Given the description of an element on the screen output the (x, y) to click on. 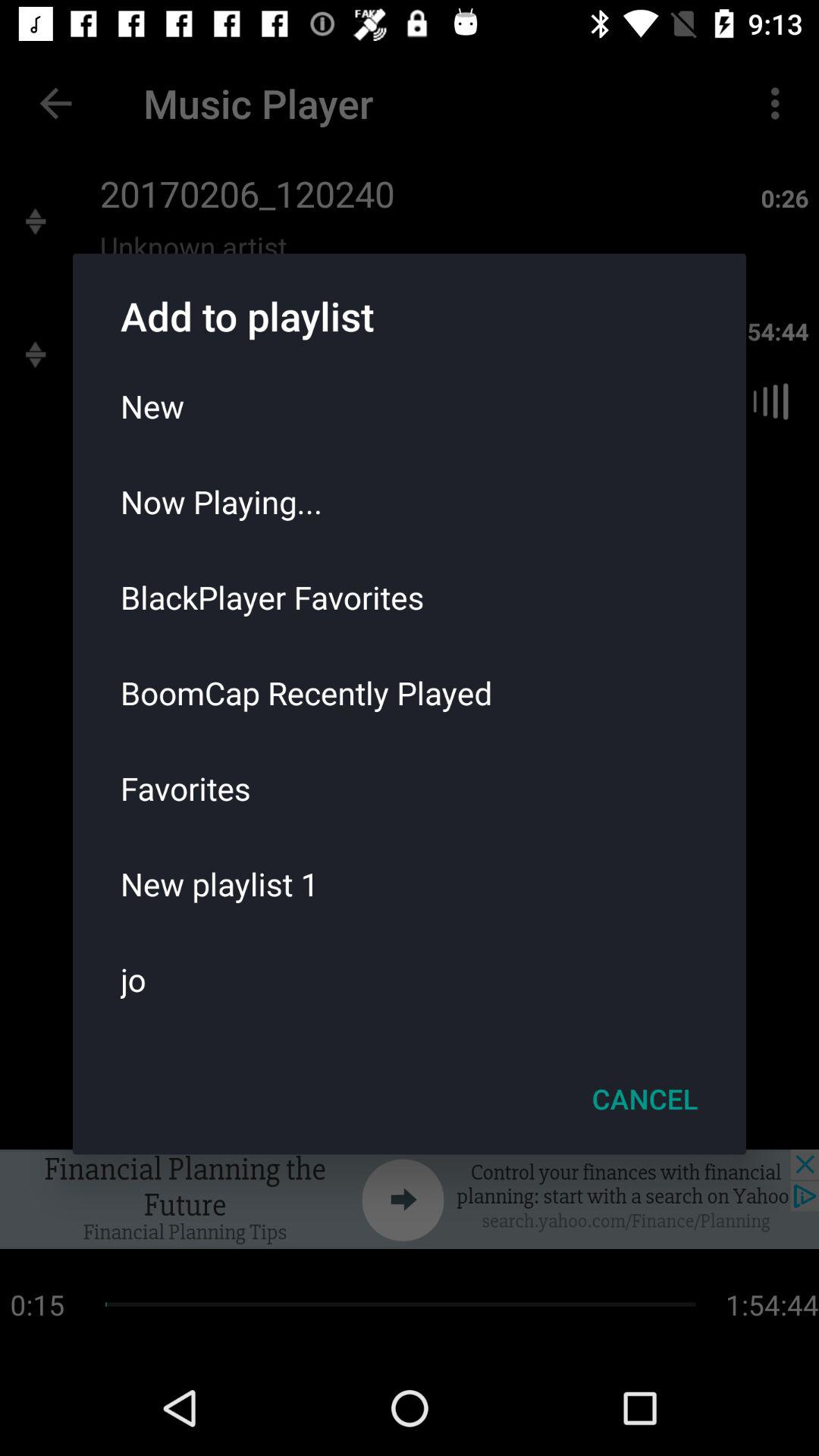
flip until jo item (409, 979)
